Given the description of an element on the screen output the (x, y) to click on. 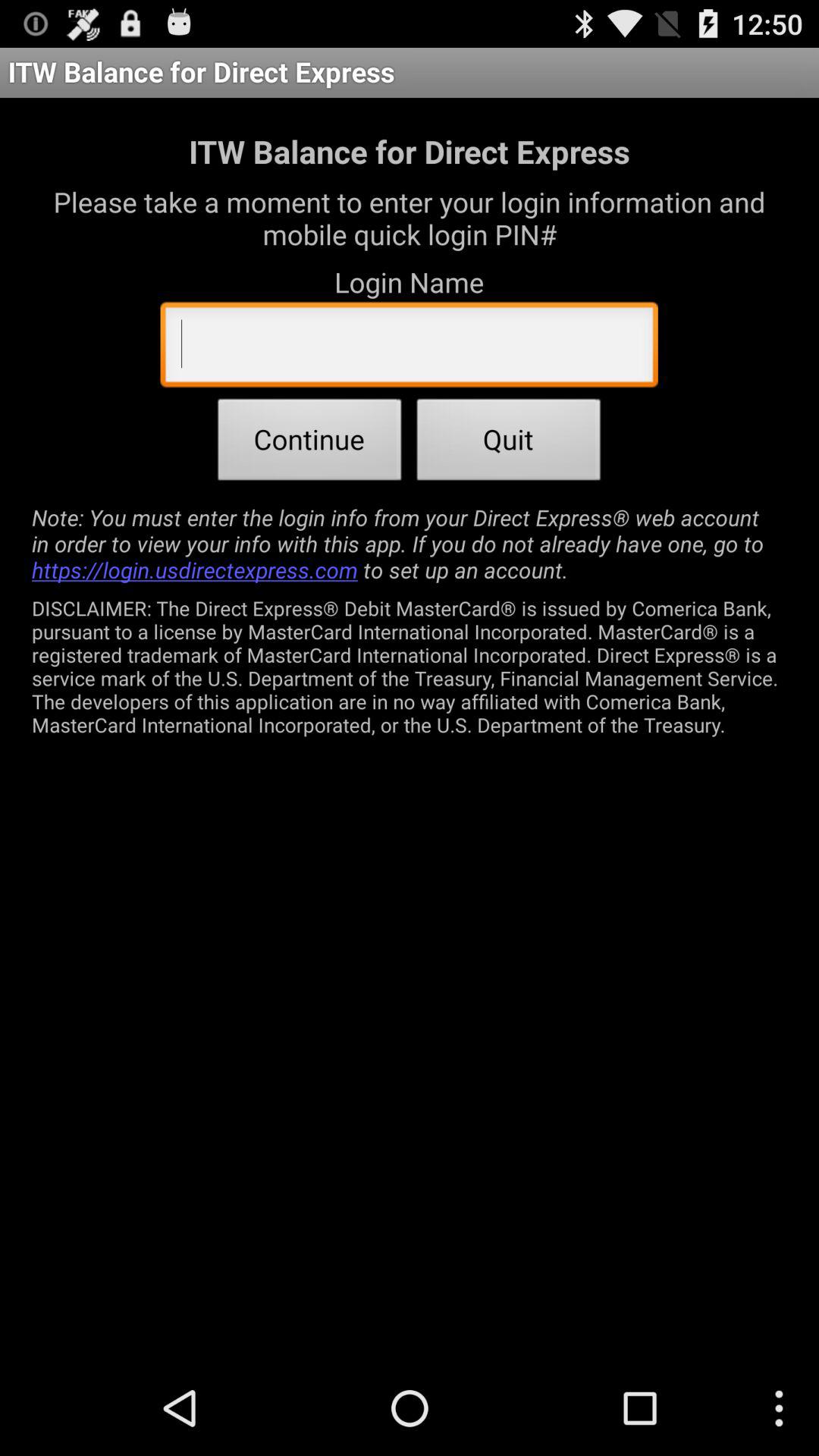
open the icon above continue (409, 348)
